Given the description of an element on the screen output the (x, y) to click on. 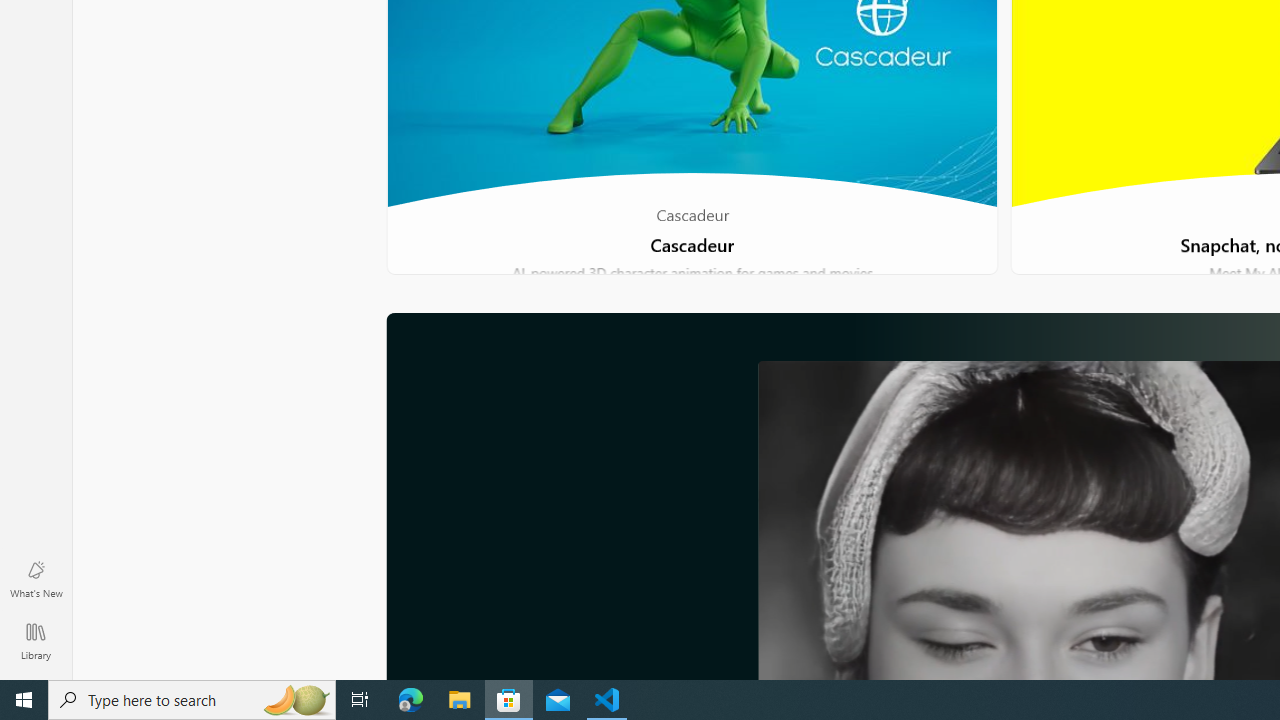
Library (35, 640)
What's New (35, 578)
